Given the description of an element on the screen output the (x, y) to click on. 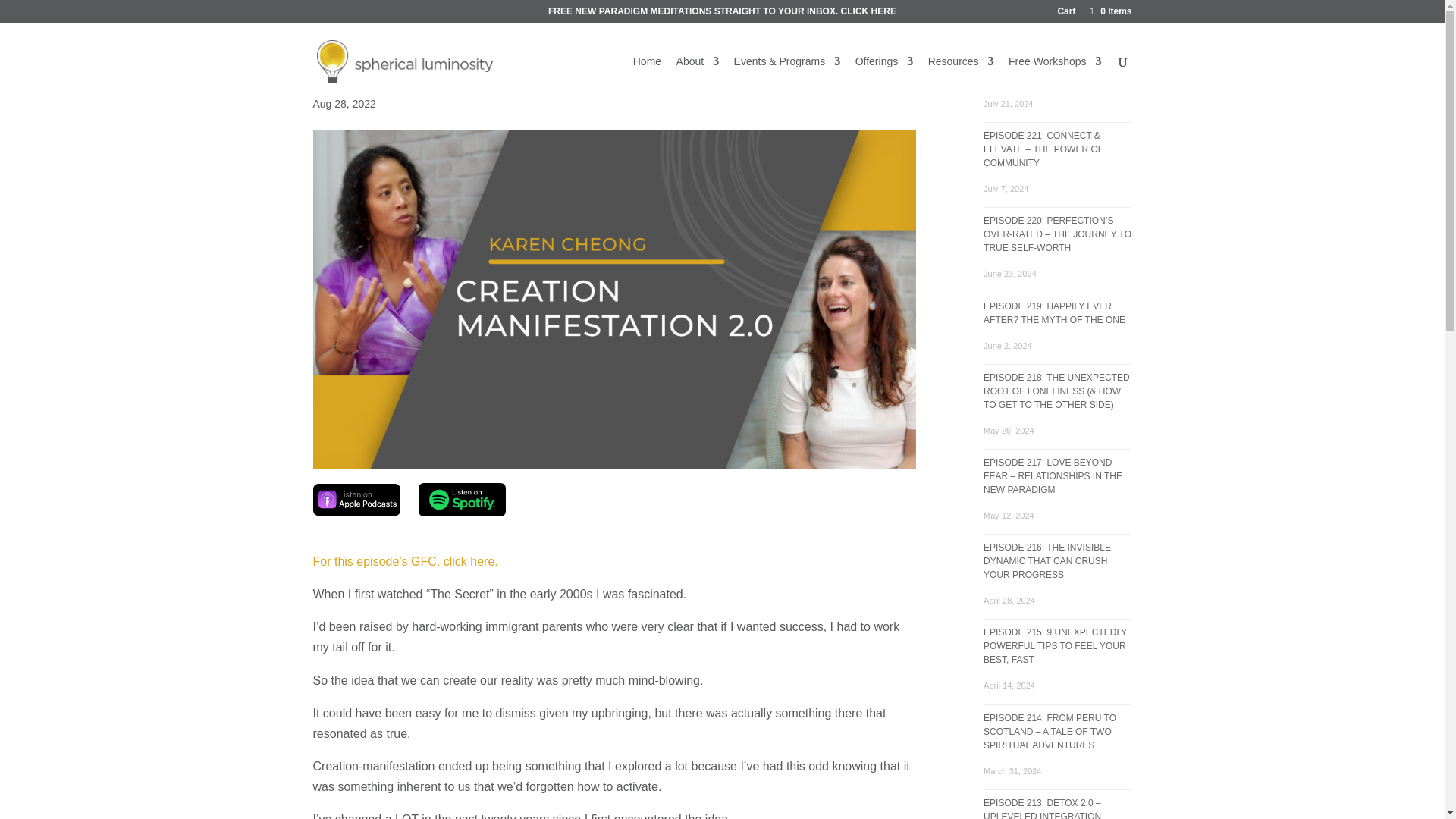
Free Workshops (1054, 77)
Resources (961, 77)
About (698, 77)
Offerings (885, 77)
Cart (1066, 14)
CLICK HERE (868, 10)
EPISODE 219: HAPPILY EVER AFTER? THE MYTH OF THE ONE (1054, 313)
Home (647, 77)
0 Items (1108, 10)
